Given the description of an element on the screen output the (x, y) to click on. 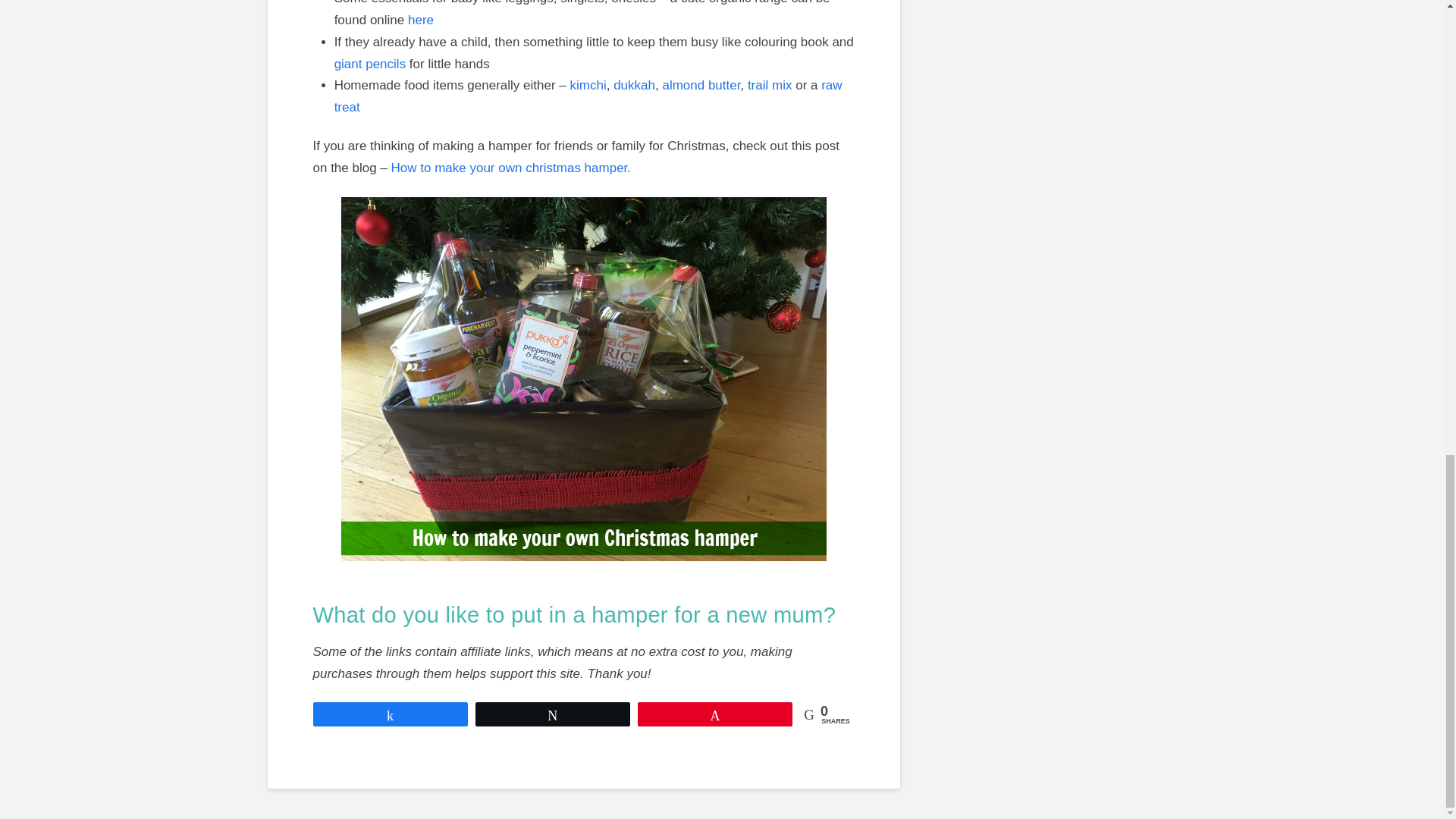
kimchi (588, 84)
here (420, 20)
raw treat (588, 95)
How to make your own christmas hamper (509, 167)
dukkah (633, 84)
giant pencils (370, 63)
trail mix (770, 84)
almond butter (700, 84)
